Given the description of an element on the screen output the (x, y) to click on. 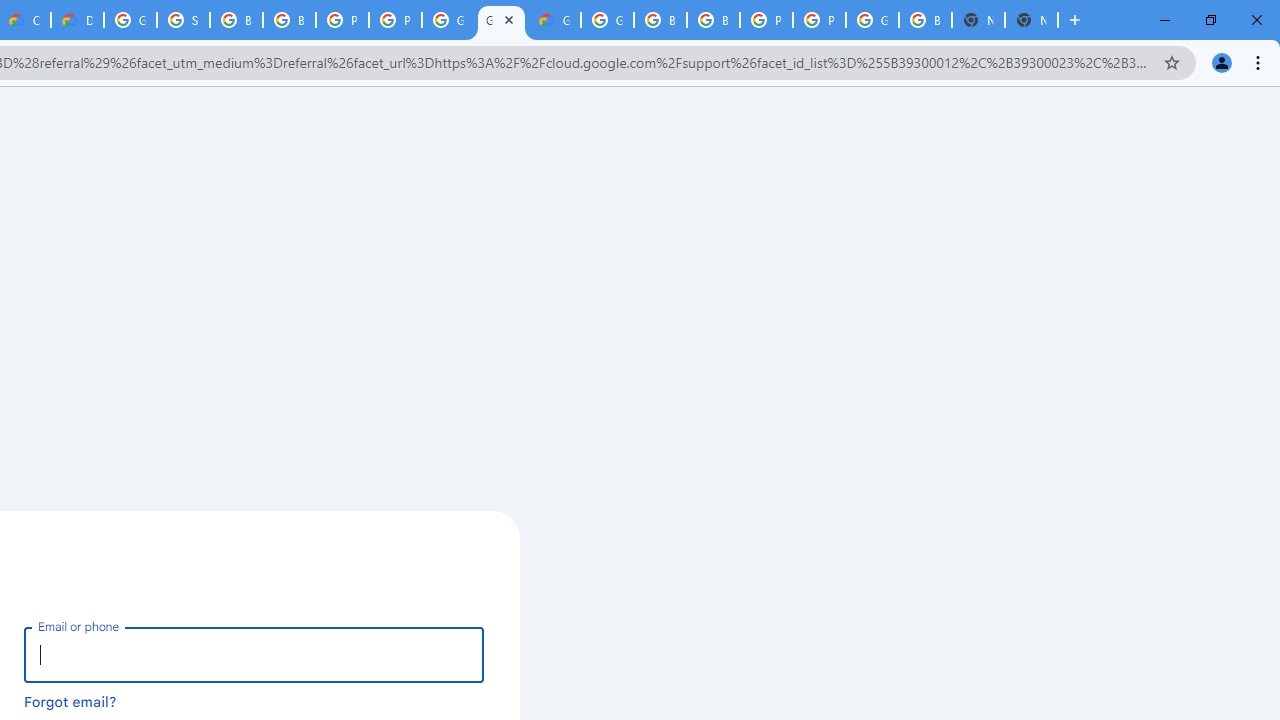
New Tab (1031, 20)
Email or phone (253, 654)
Forgot email? (70, 701)
Google Cloud Platform (130, 20)
Browse Chrome as a guest - Computer - Google Chrome Help (289, 20)
Browse Chrome as a guest - Computer - Google Chrome Help (660, 20)
Google Cloud Platform (872, 20)
